Given the description of an element on the screen output the (x, y) to click on. 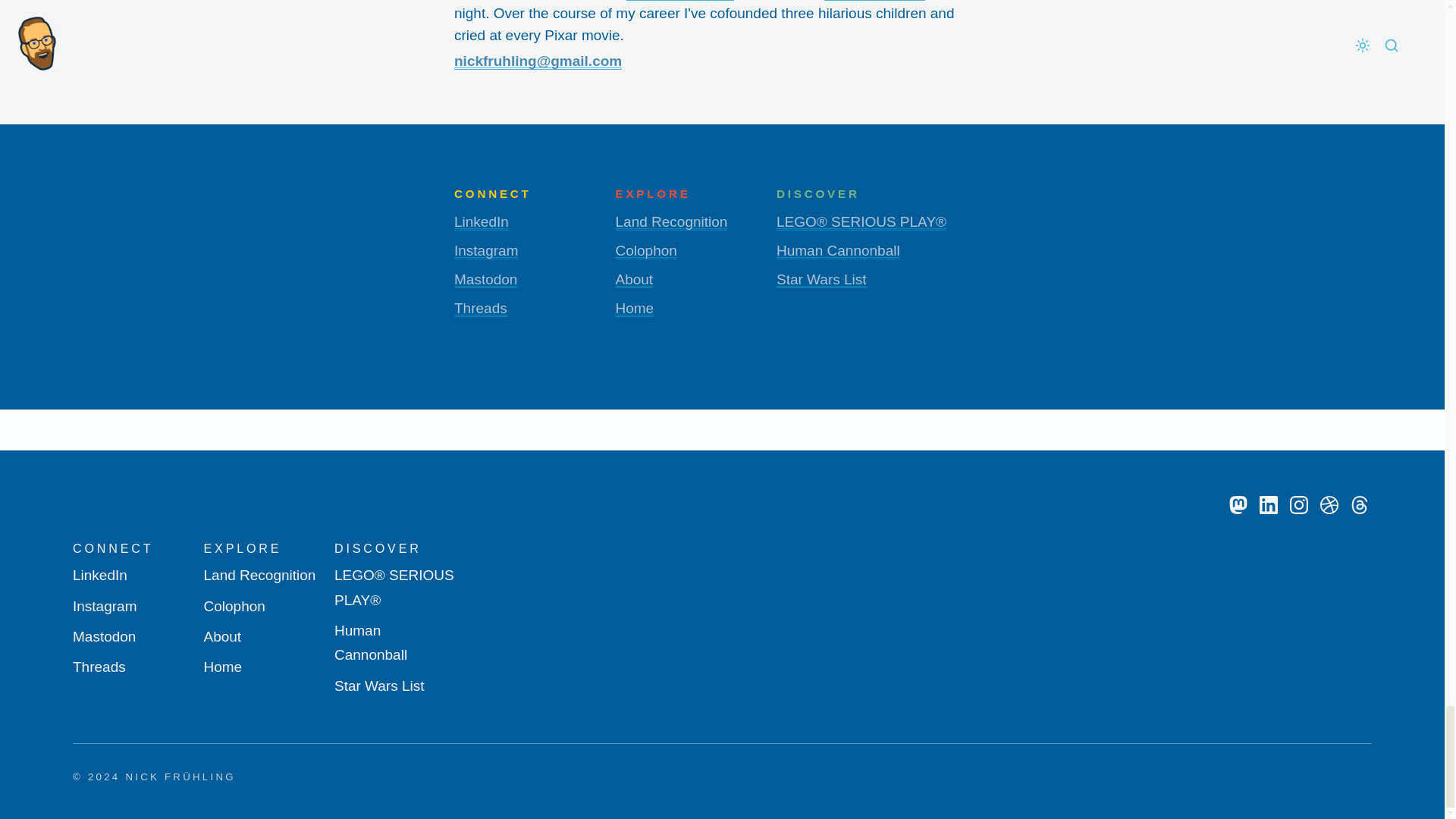
LinkedIn (481, 221)
Threads (1359, 505)
Dribbble (1329, 505)
Instagram (1298, 505)
About (634, 279)
Instagram (486, 250)
Star Wars List (821, 279)
Human Cannonball (837, 250)
Home (634, 308)
Mastodon (1237, 505)
Colophon (646, 250)
Threads (480, 308)
Mastodon (485, 279)
